Given the description of an element on the screen output the (x, y) to click on. 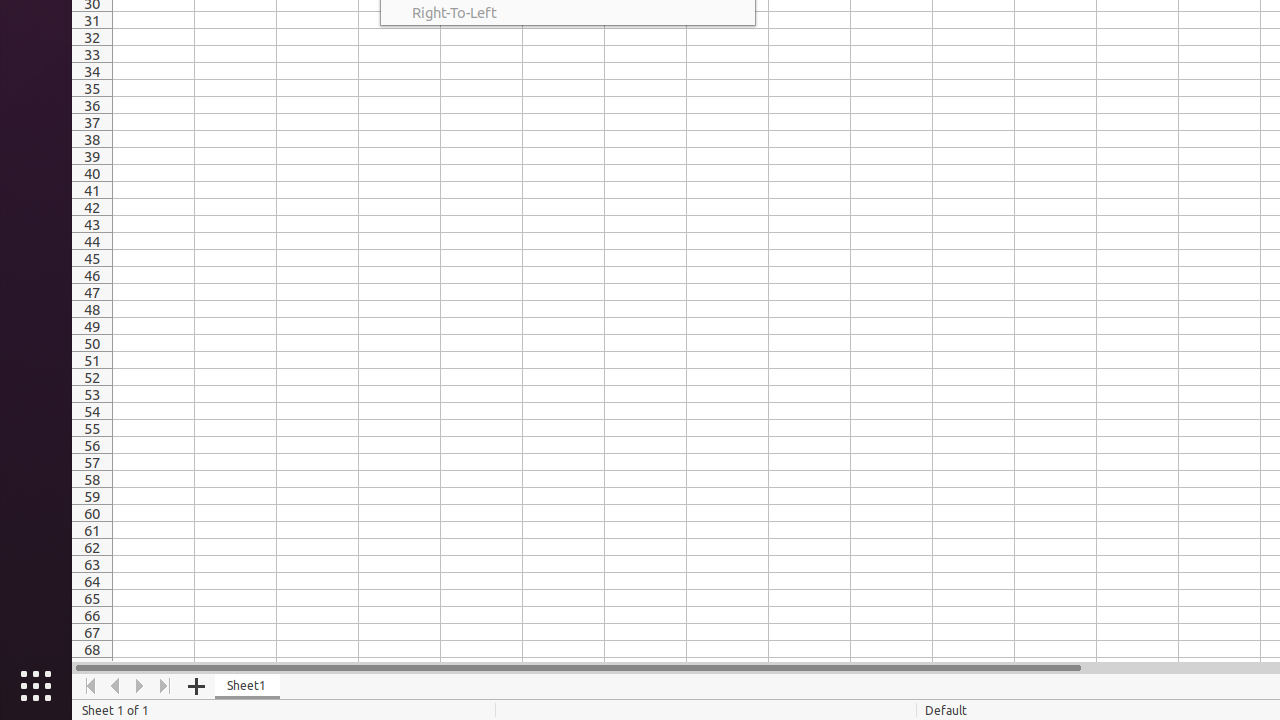
Show Applications Element type: toggle-button (36, 686)
Sheet1 Element type: page-tab (247, 686)
Move Right Element type: push-button (140, 686)
Move To Home Element type: push-button (90, 686)
Right-To-Left Element type: menu-item (568, 12)
